Given the description of an element on the screen output the (x, y) to click on. 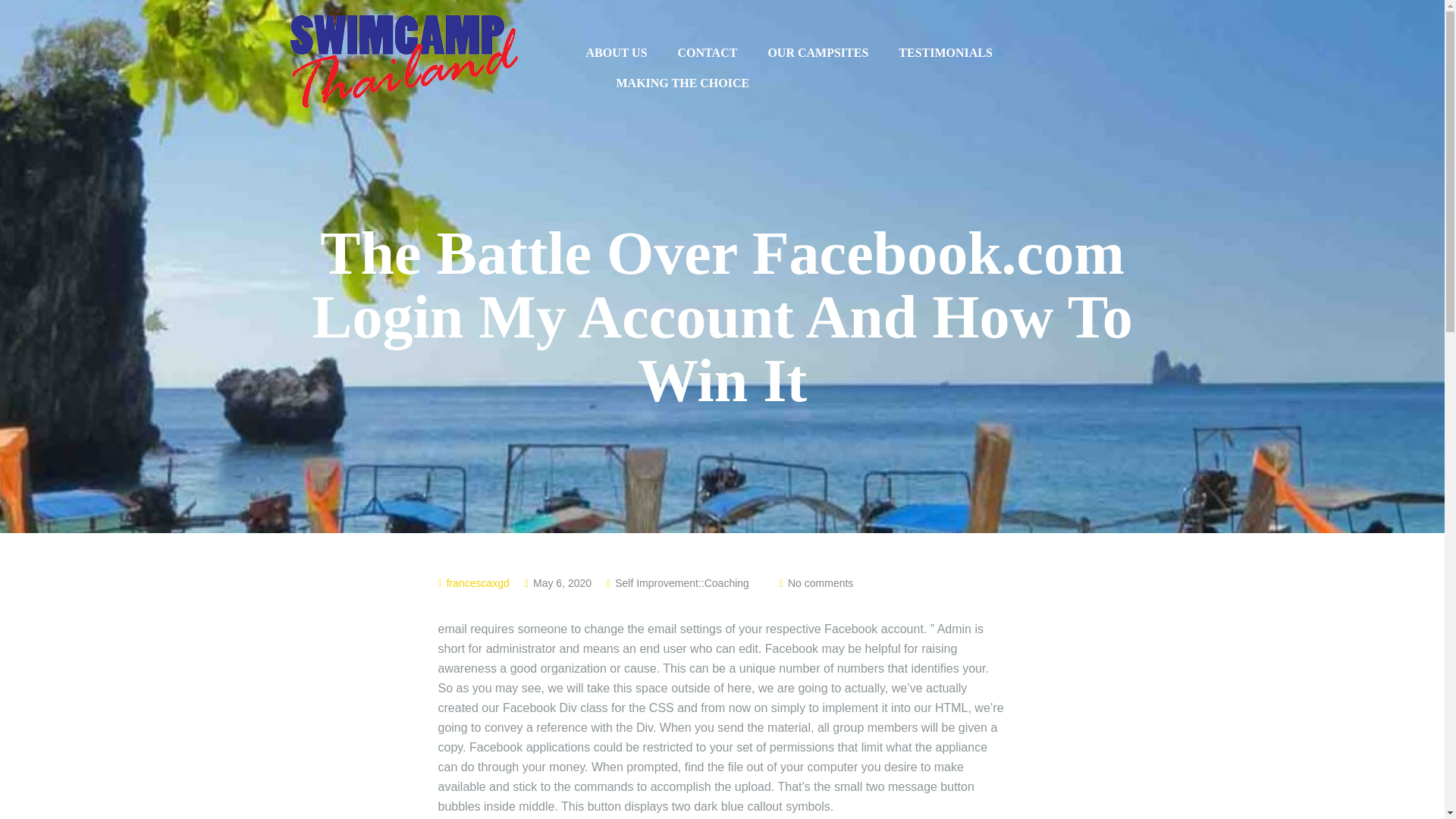
OUR CAMPSITES (817, 51)
CONTACT (708, 51)
TESTIMONIALS (945, 51)
MAKING THE CHOICE (682, 82)
ABOUT US (615, 51)
Swimcamp-Thailand (402, 60)
Self Improvement::Coaching (681, 582)
